Given the description of an element on the screen output the (x, y) to click on. 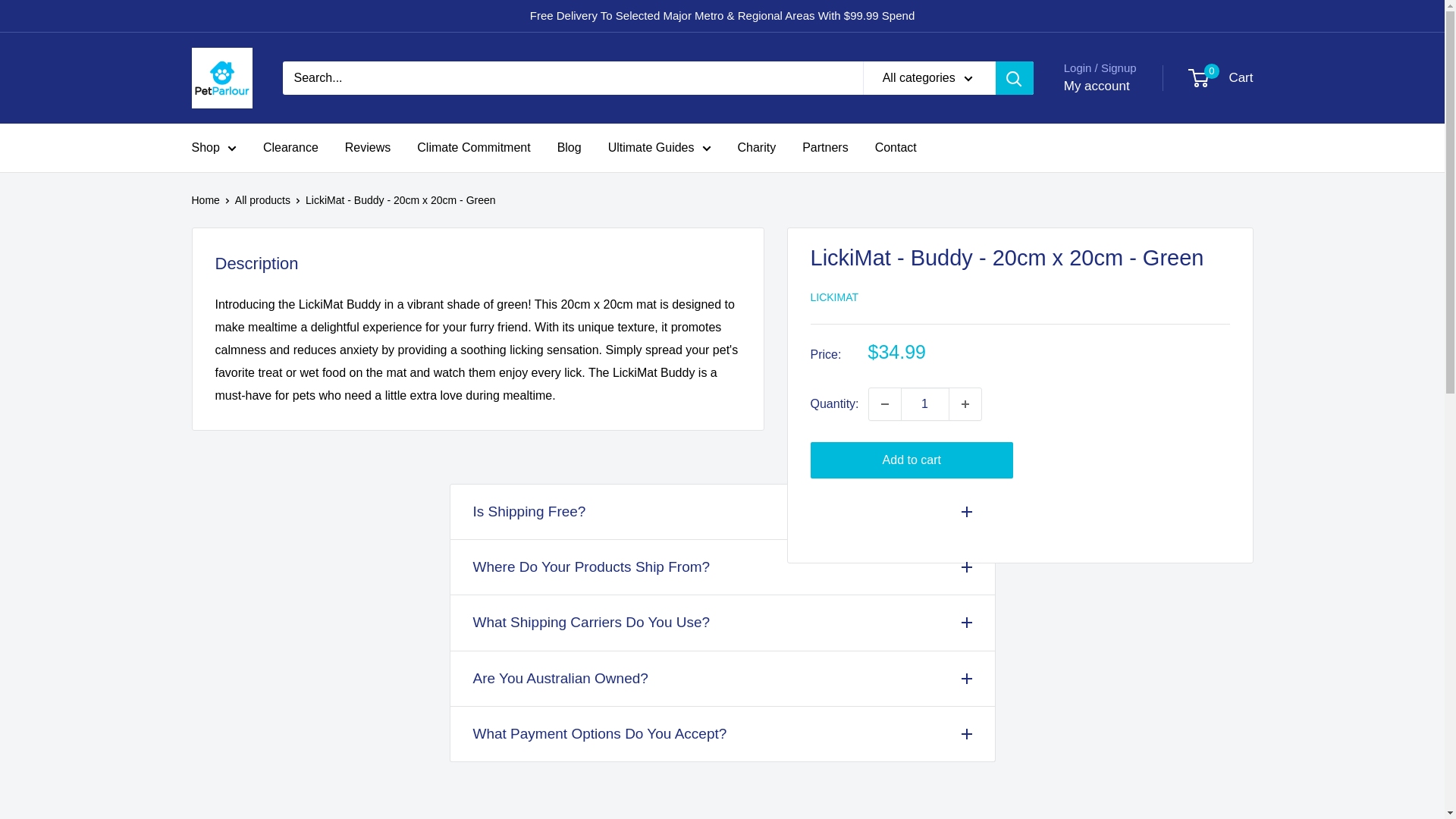
Decrease quantity by 1 (885, 404)
Increase quantity by 1 (965, 404)
1 (925, 404)
